Given the description of an element on the screen output the (x, y) to click on. 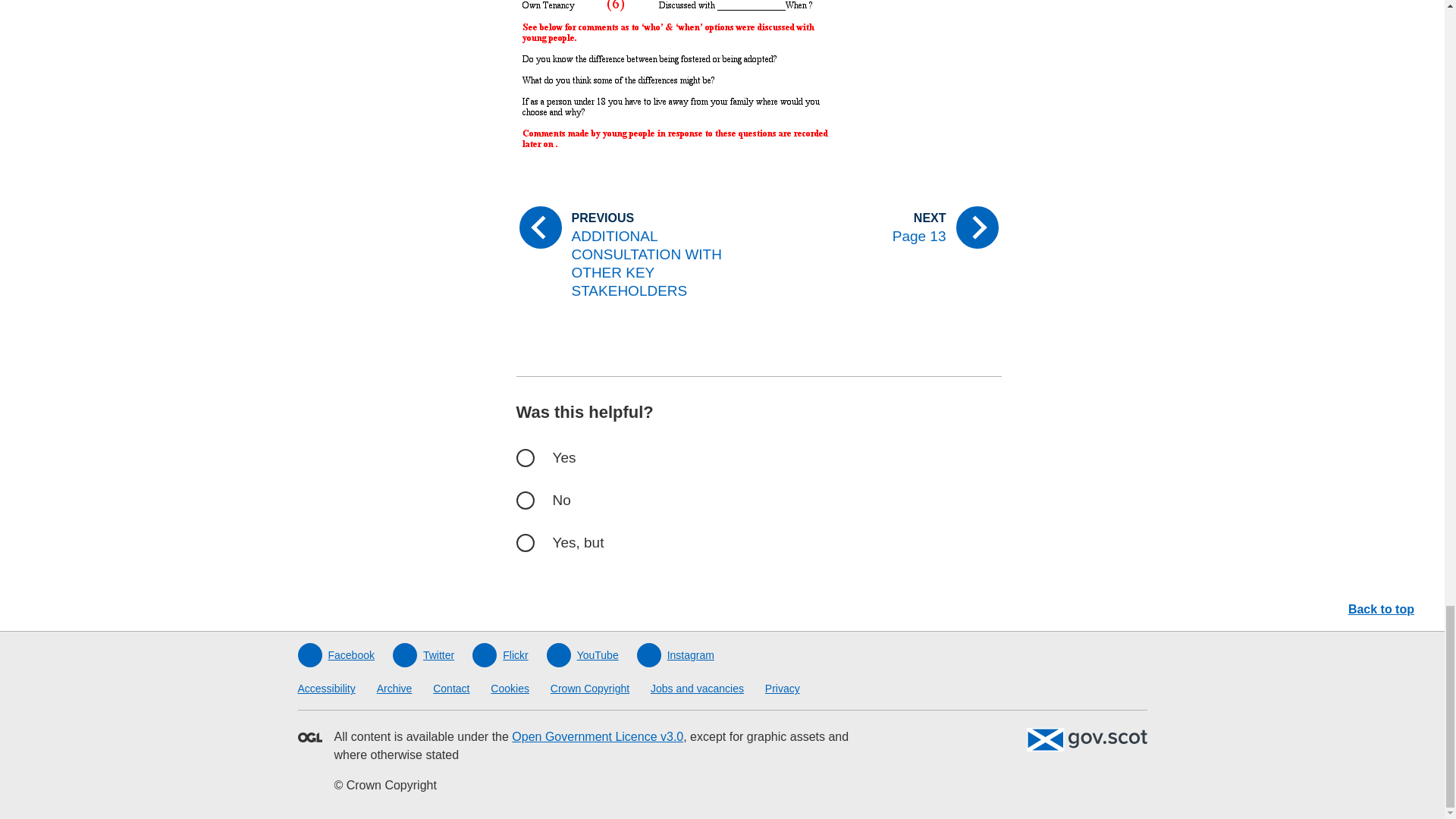
Twitter (423, 654)
Next page (885, 226)
YouTube (582, 654)
Previous page (630, 254)
Facebook (335, 654)
Instagram (675, 654)
Flickr (499, 654)
